Given the description of an element on the screen output the (x, y) to click on. 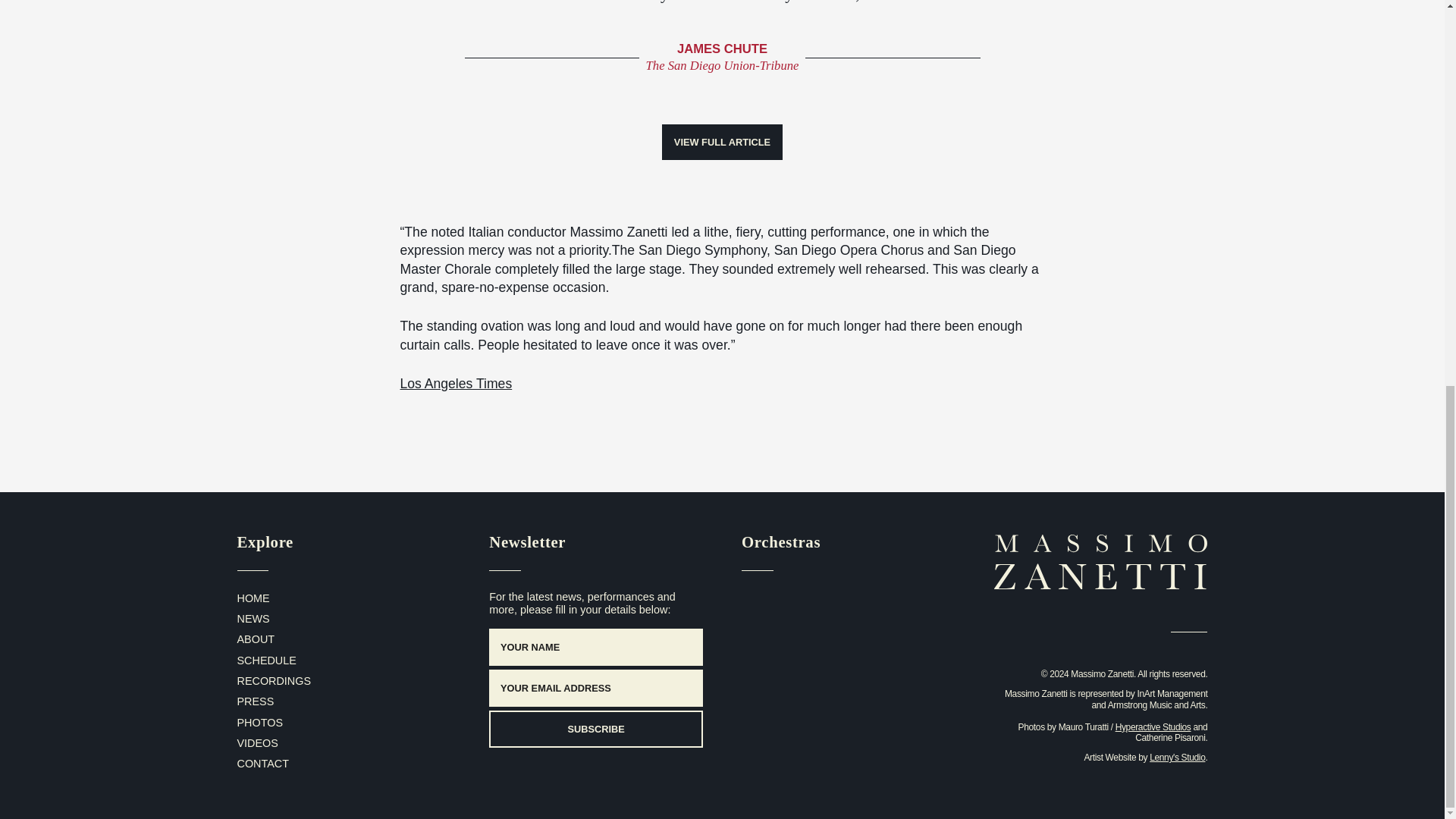
RECORDINGS (273, 680)
Subscribe (596, 728)
Subscribe (596, 728)
Hyperactive Studios (1153, 726)
PRESS (254, 701)
HOME (252, 598)
Lenny's Studio (1177, 757)
VIDEOS (256, 743)
SCHEDULE (265, 660)
Los Angeles Times (456, 383)
ABOUT (255, 639)
Massimo Zanetti (1101, 570)
VIEW FULL ARTICLE (722, 141)
PHOTOS (258, 722)
NEWS (252, 618)
